Given the description of an element on the screen output the (x, y) to click on. 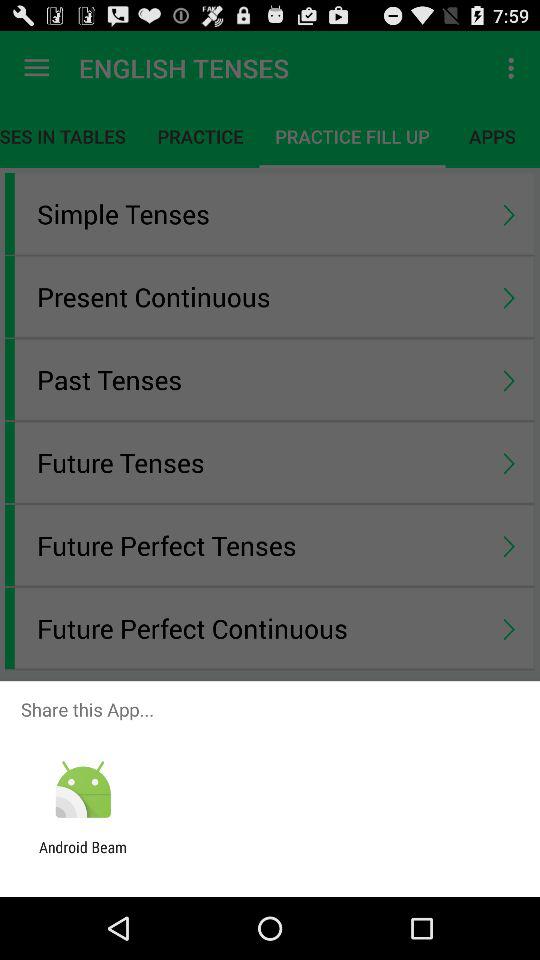
tap item below share this app... icon (82, 789)
